Given the description of an element on the screen output the (x, y) to click on. 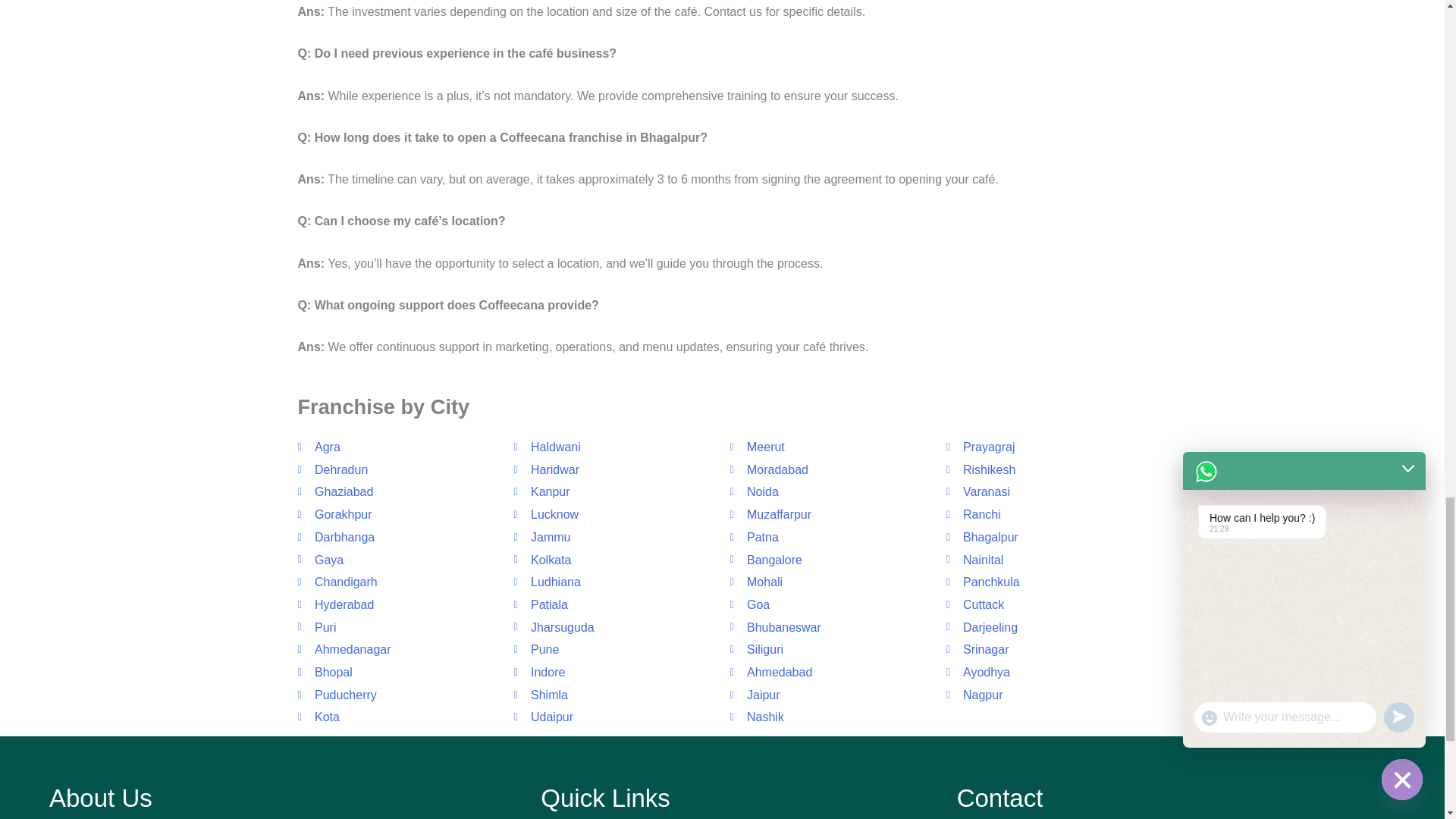
Ahmedanagar (397, 649)
Kanpur (613, 491)
Haridwar (613, 469)
Dehradun (397, 469)
Haldwani (613, 446)
Agra (397, 446)
Hyderabad (397, 604)
Ghaziabad (397, 491)
Gaya (397, 559)
Bhopal (397, 671)
